Given the description of an element on the screen output the (x, y) to click on. 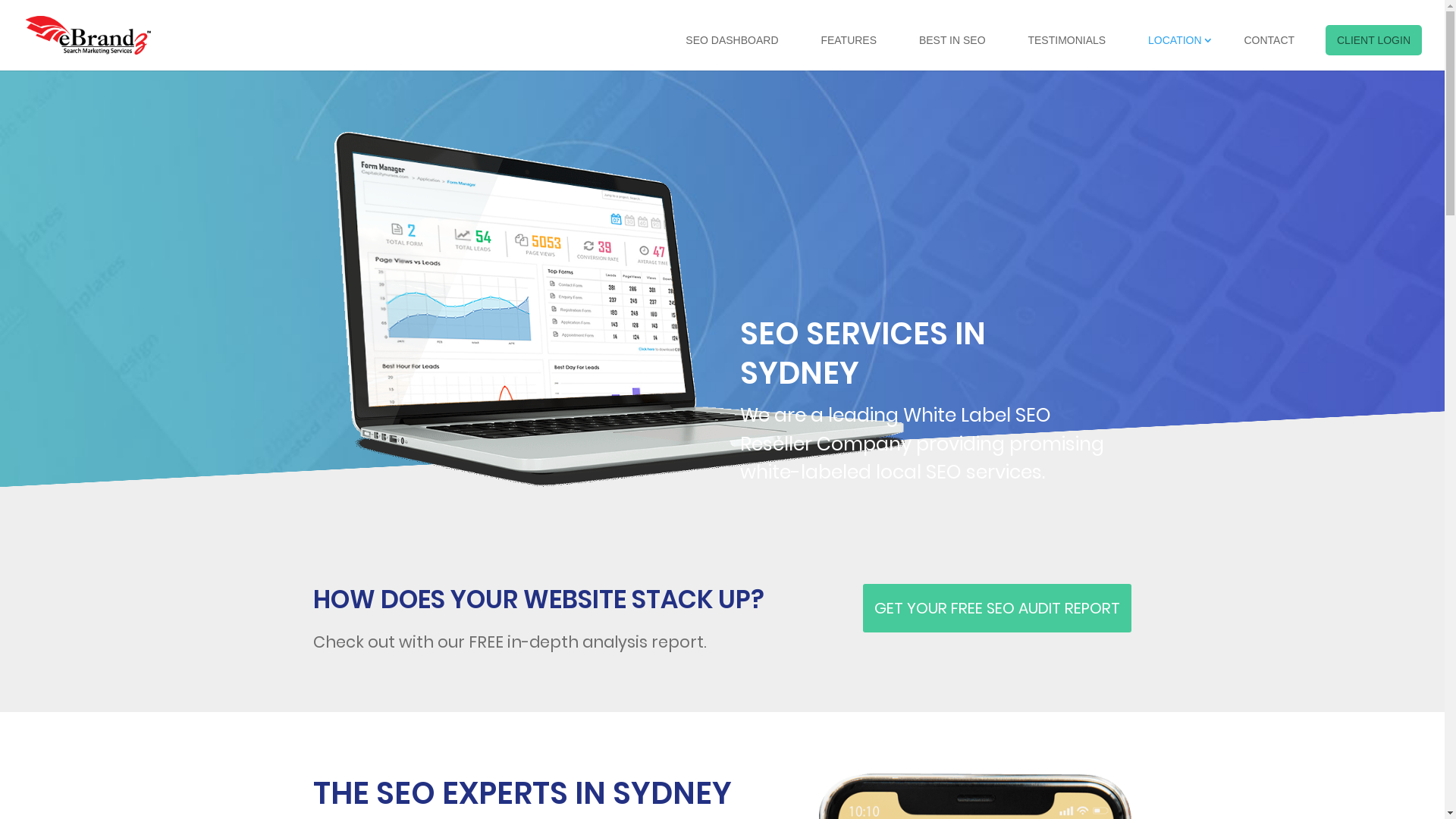
LOCATION Element type: text (1174, 40)
CLIENT LOGIN Element type: text (1373, 40)
FEATURES Element type: text (848, 40)
SEO DASHBOARD Element type: text (731, 40)
TESTIMONIALS Element type: text (1066, 40)
CONTACT Element type: text (1268, 40)
GET YOUR FREE SEO AUDIT REPORT Element type: text (996, 607)
BEST IN SEO Element type: text (952, 40)
